Given the description of an element on the screen output the (x, y) to click on. 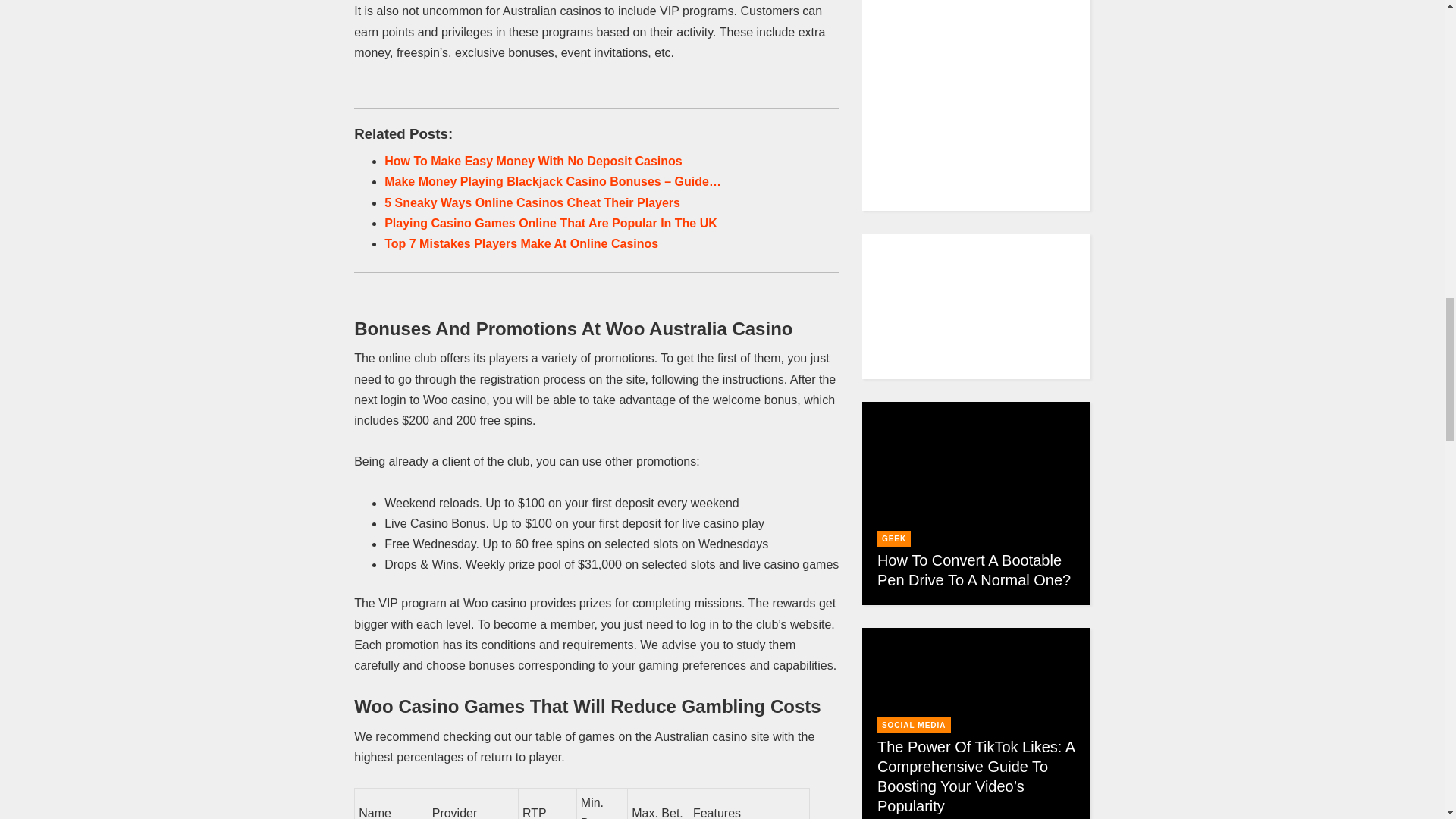
Playing Casino Games Online That Are Popular In The UK (550, 223)
How To Make Easy Money With No Deposit Casinos (533, 160)
Top 7 Mistakes Players Make At Online Casinos (521, 243)
5 Sneaky Ways Online Casinos Cheat Their Players (531, 202)
How To Convert A Bootable Pen Drive To A Normal One? (973, 570)
